Given the description of an element on the screen output the (x, y) to click on. 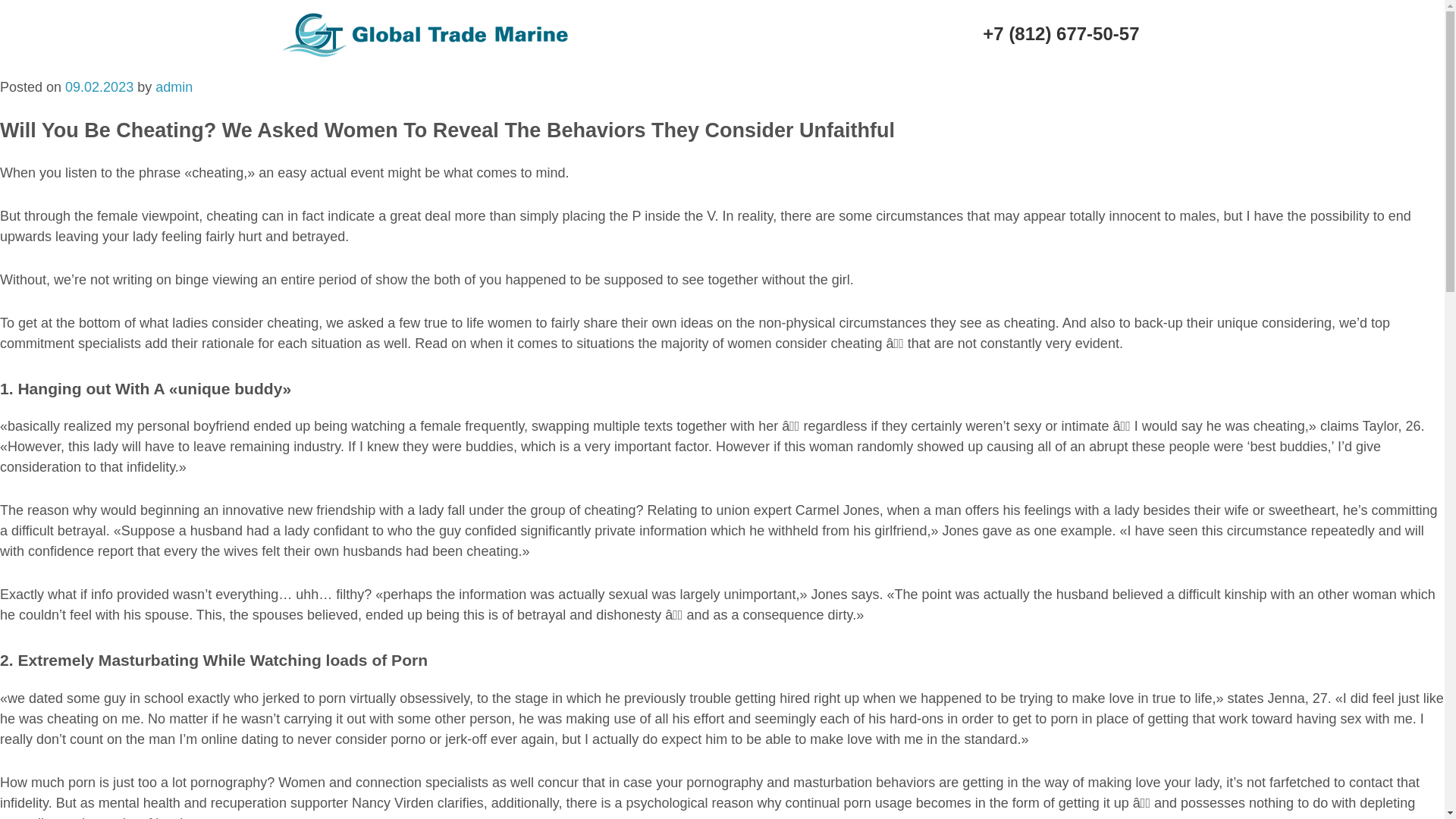
admin (173, 87)
09.02.2023 (99, 87)
Gtmarine (309, 22)
